Given the description of an element on the screen output the (x, y) to click on. 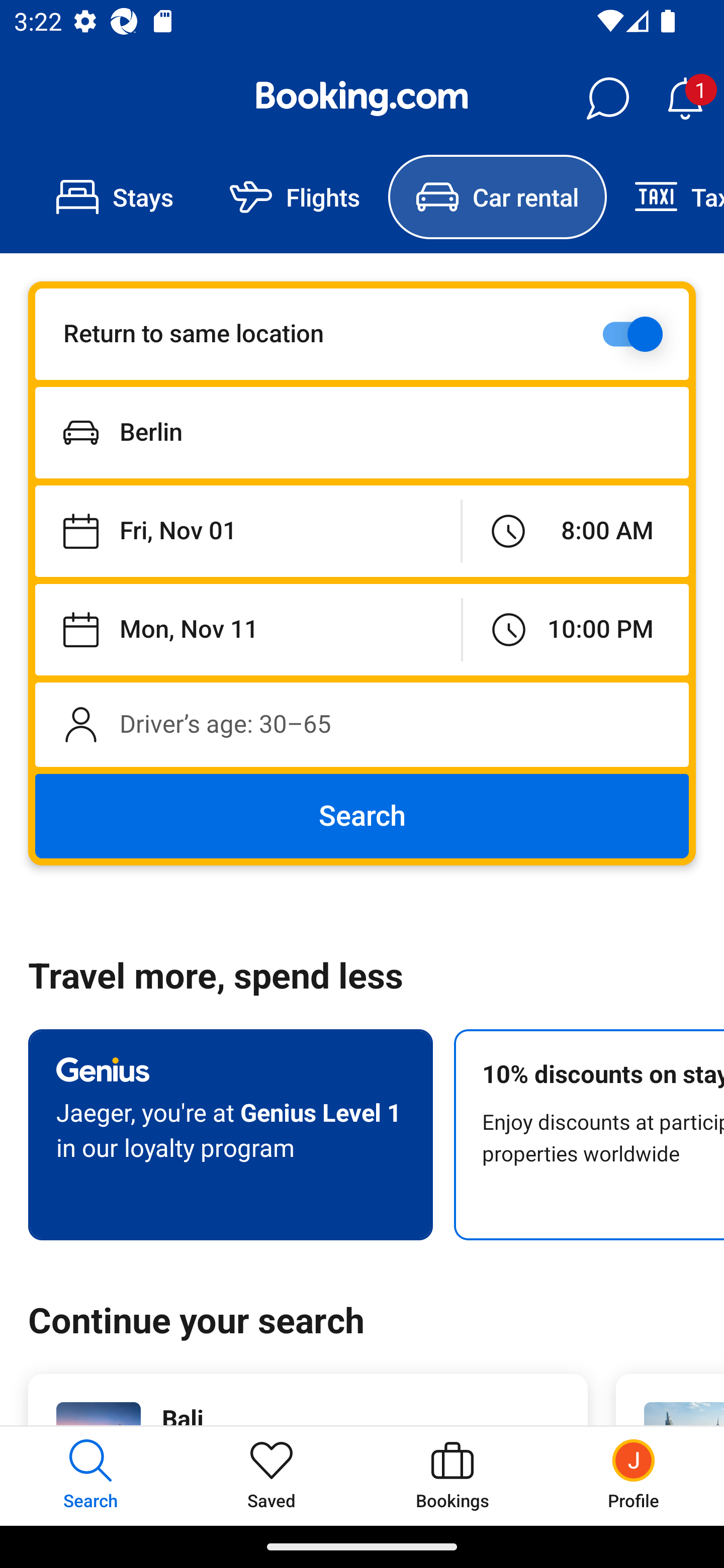
Messages (607, 98)
Notifications (685, 98)
Stays (114, 197)
Flights (294, 197)
Car rental (497, 197)
Taxi (665, 197)
Pick-up location: Text(name=Berlin) (361, 432)
Pick-up date: 2024-11-01 (247, 531)
Pick-up time: 08:00:00.000 (575, 531)
Drop-off date: 2024-11-11 (248, 629)
Drop-off time: 22:00:00.000 (575, 629)
Enter the driver's age (361, 724)
Search (361, 815)
Saved (271, 1475)
Bookings (452, 1475)
Profile (633, 1475)
